Given the description of an element on the screen output the (x, y) to click on. 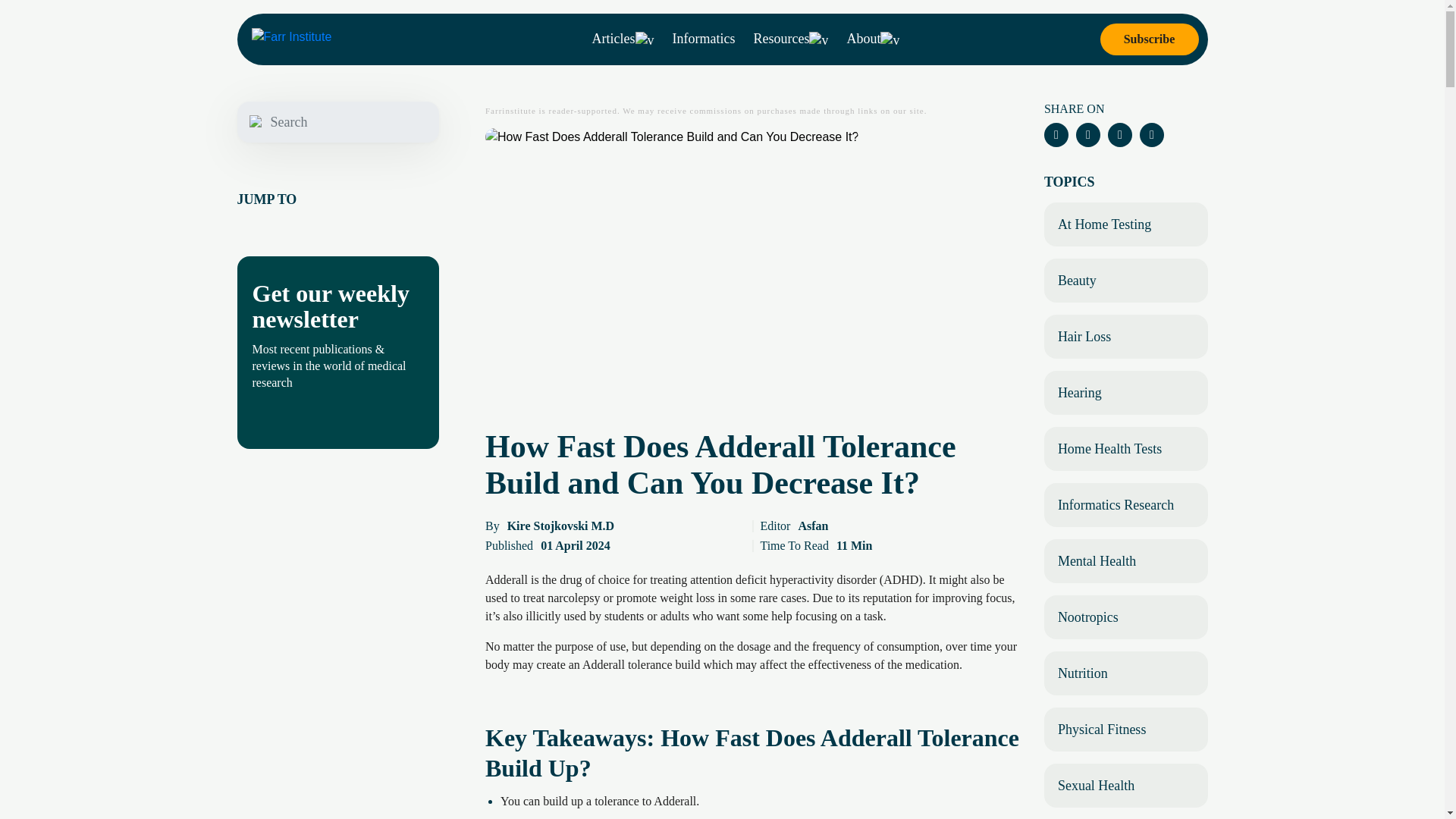
Resources (790, 39)
Kire Stojkovski M.D (560, 525)
Subscribe (1148, 39)
Asfan (812, 525)
Articles (622, 39)
About (872, 39)
Informatics (703, 38)
